Given the description of an element on the screen output the (x, y) to click on. 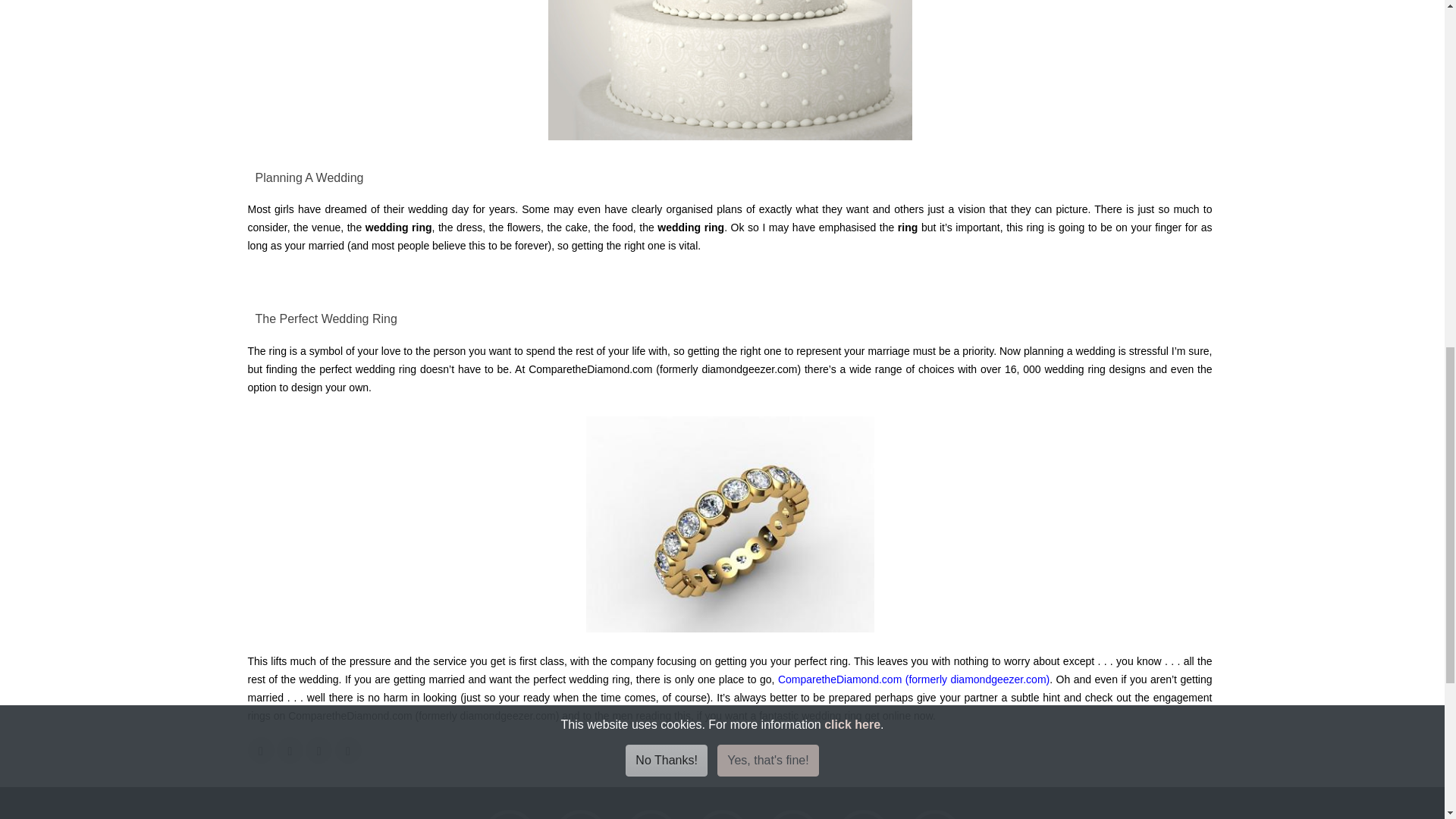
Instagram (721, 816)
Linked-in (934, 816)
Twitter (580, 816)
YouTube (863, 816)
Pinterest (793, 816)
Diamondgeezer.com wedding rings (913, 679)
TikTok (651, 816)
Facebook (509, 816)
